Given the description of an element on the screen output the (x, y) to click on. 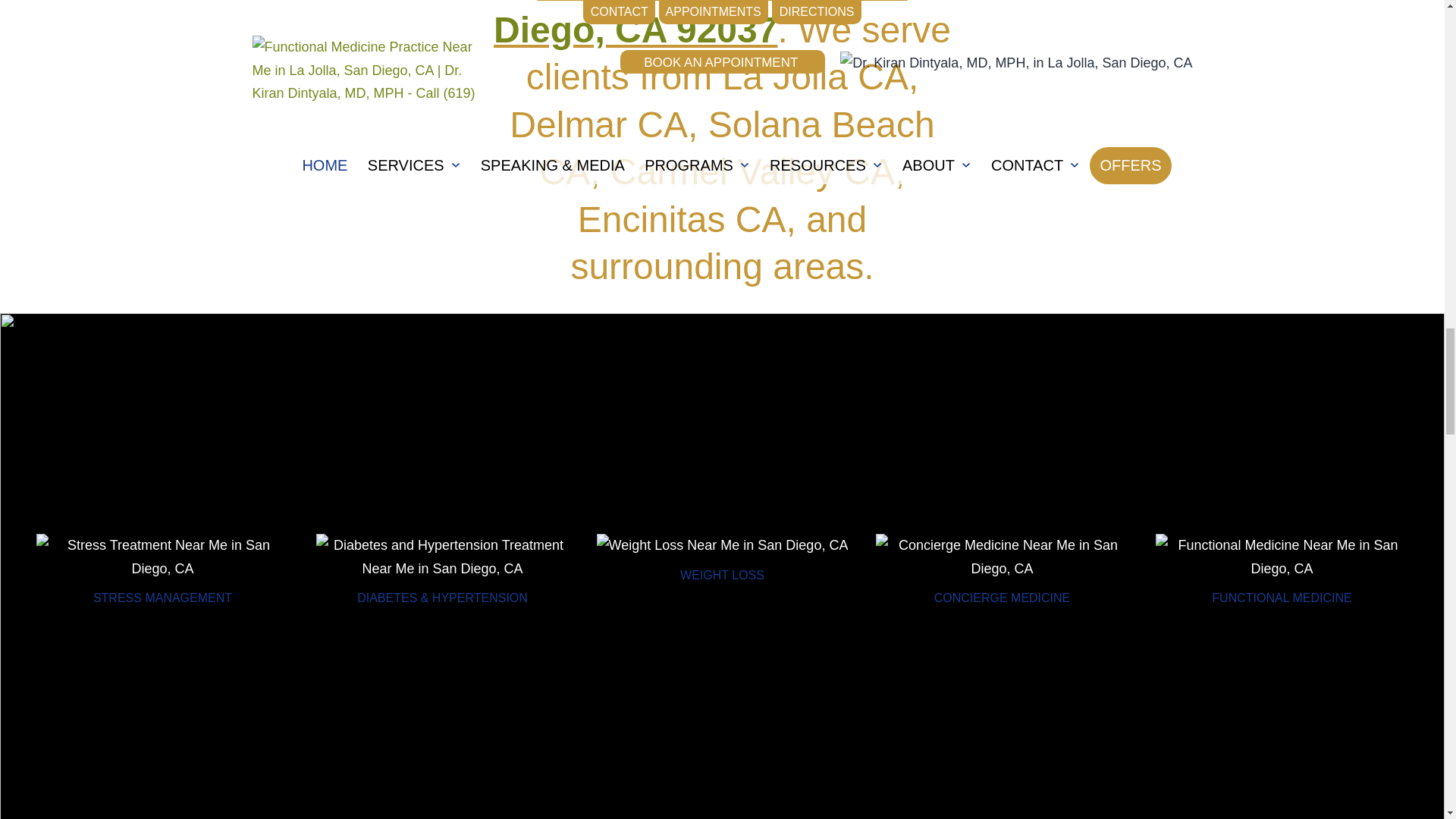
Concierge Medicine Near Me in San Diego, CA  (1002, 556)
Stress Treatment Near Me in San Diego, CA (162, 556)
Weight Loss Near Me in San Diego, CA  (722, 545)
Functional Medicine Near Me in San Diego, CA  (1281, 556)
